Given the description of an element on the screen output the (x, y) to click on. 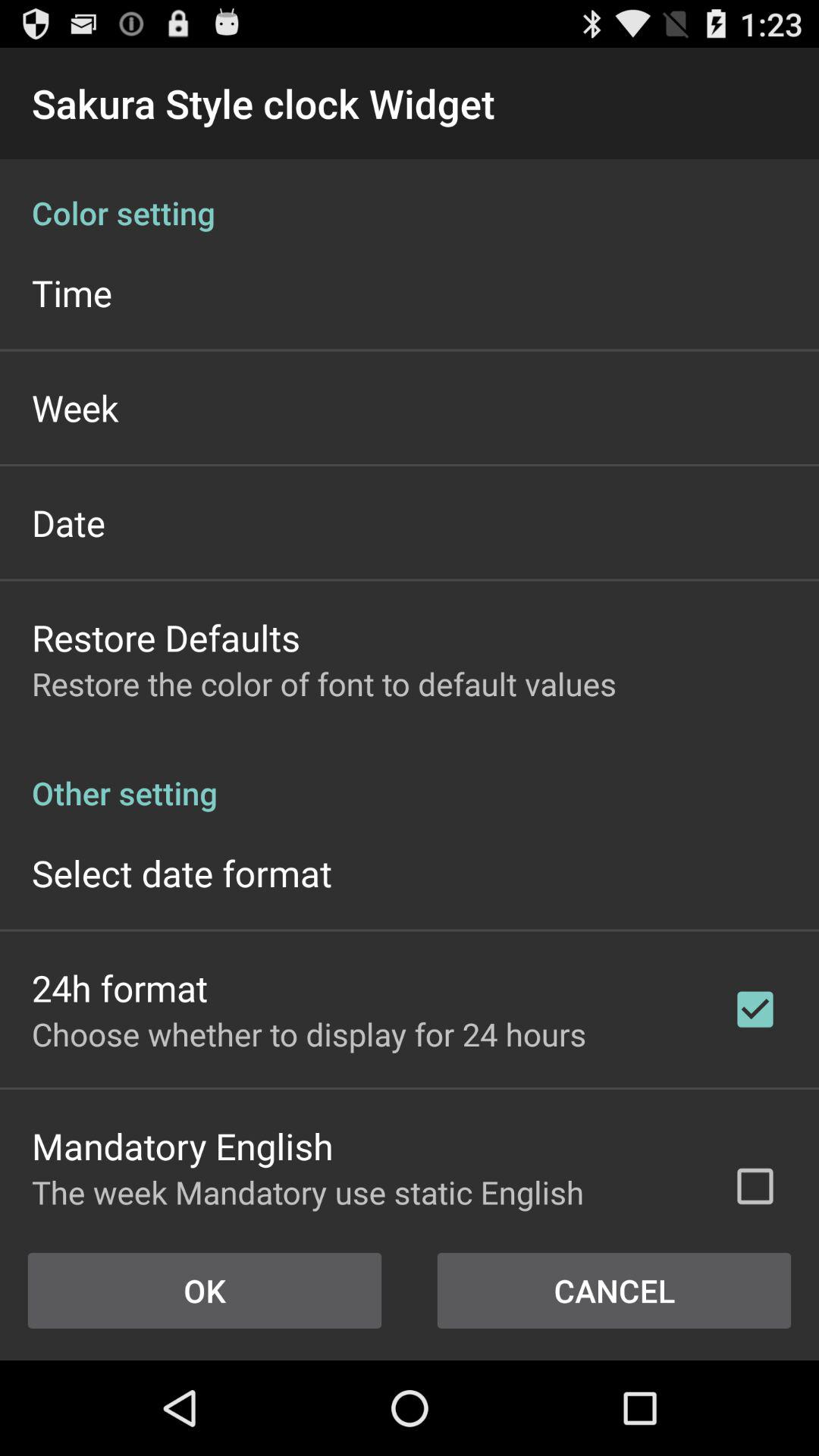
choose the button to the left of the cancel (204, 1290)
